Given the description of an element on the screen output the (x, y) to click on. 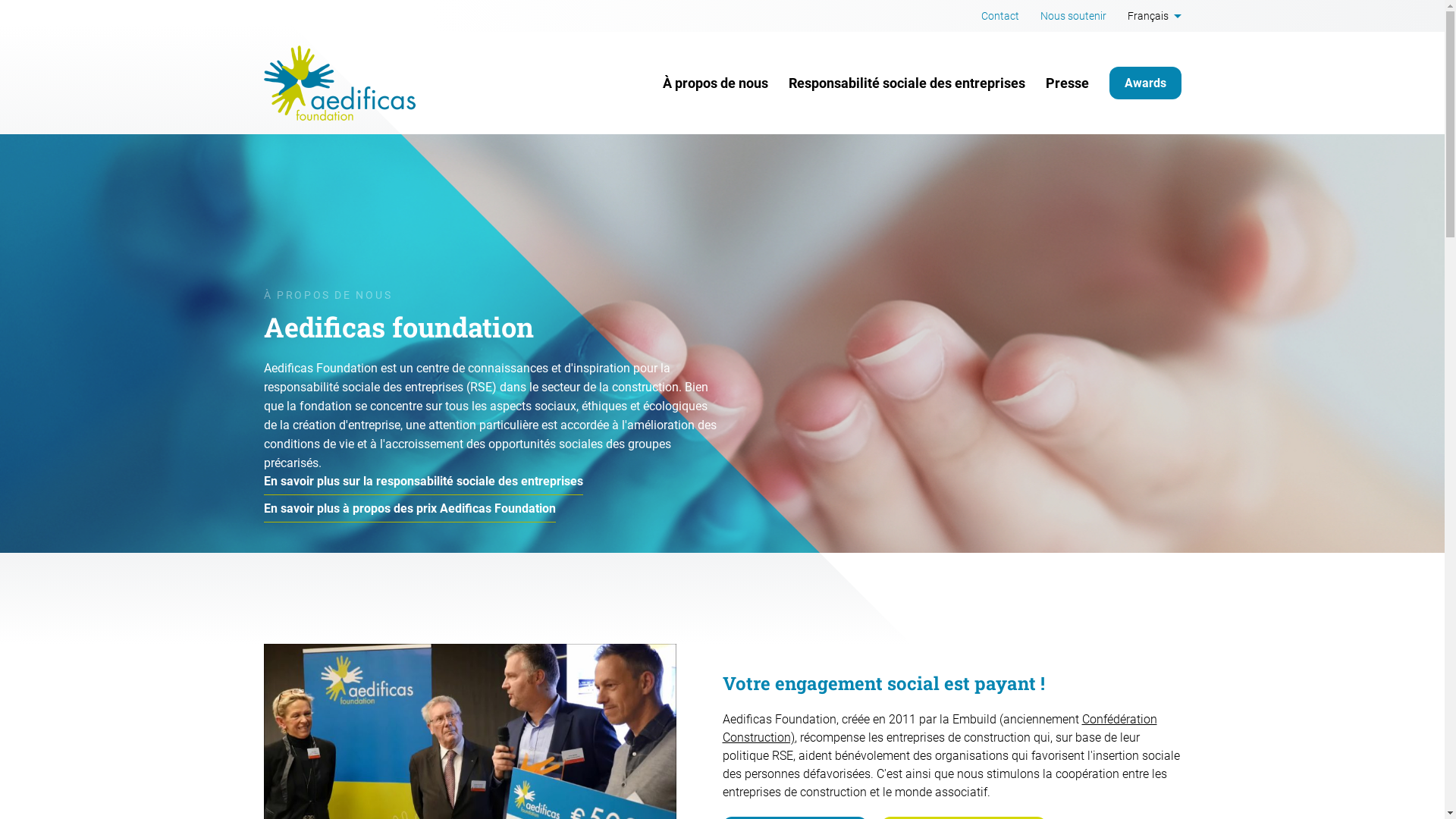
Aedificas Element type: text (339, 82)
Nous soutenir Element type: text (1073, 15)
Awards Element type: text (1144, 82)
Contact Element type: text (1000, 15)
Presse Element type: text (1066, 83)
